Given the description of an element on the screen output the (x, y) to click on. 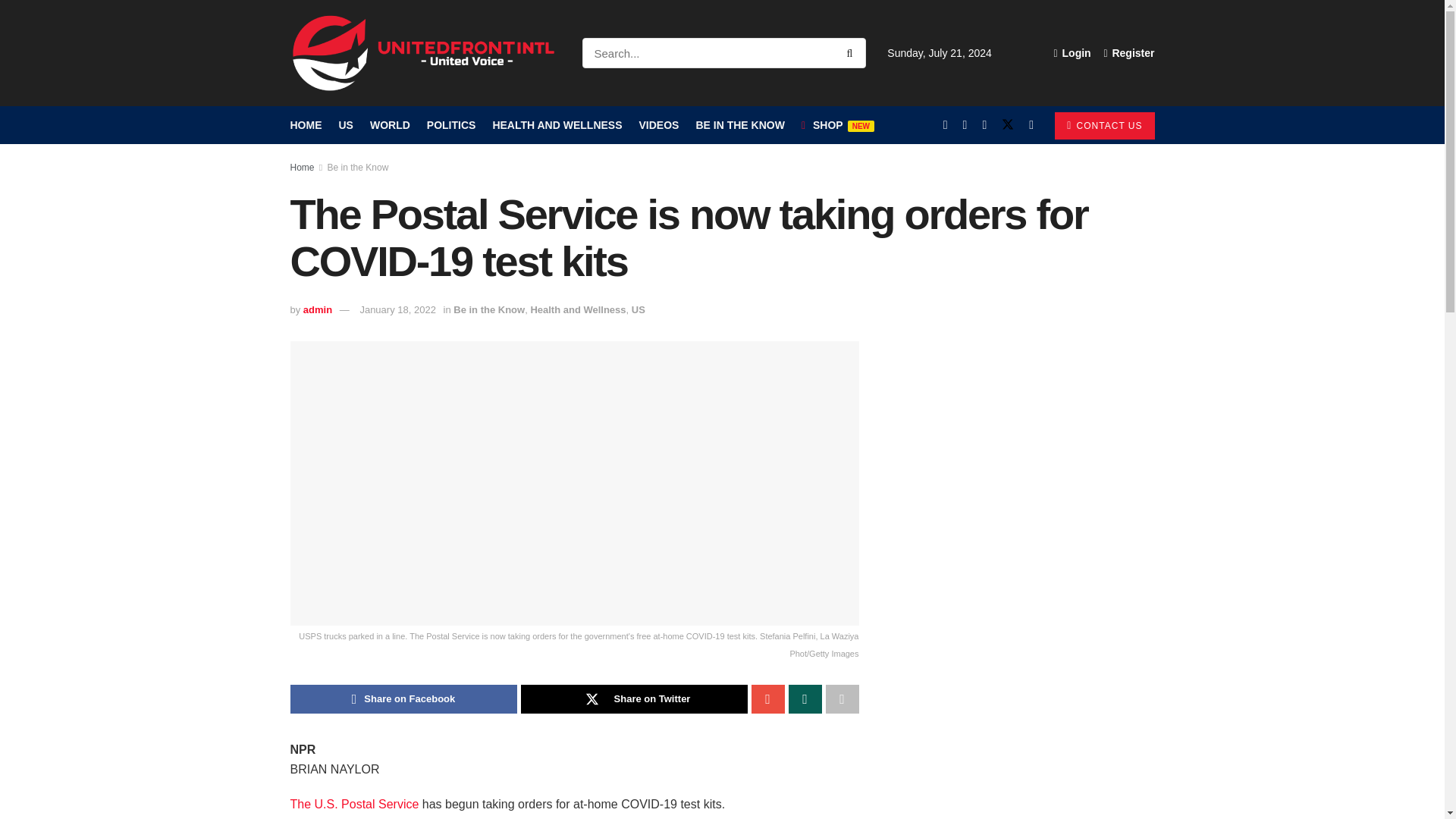
Home (301, 167)
POLITICS (451, 125)
Be in the Know (488, 309)
VIDEOS (659, 125)
BE IN THE KNOW (739, 125)
January 18, 2022 (397, 309)
Be in the Know (357, 167)
HEALTH AND WELLNESS (556, 125)
Login (1072, 53)
SHOPNEW (838, 125)
admin (316, 309)
CONTACT US (1104, 125)
WORLD (389, 125)
Health and Wellness (577, 309)
Register (1128, 53)
